Given the description of an element on the screen output the (x, y) to click on. 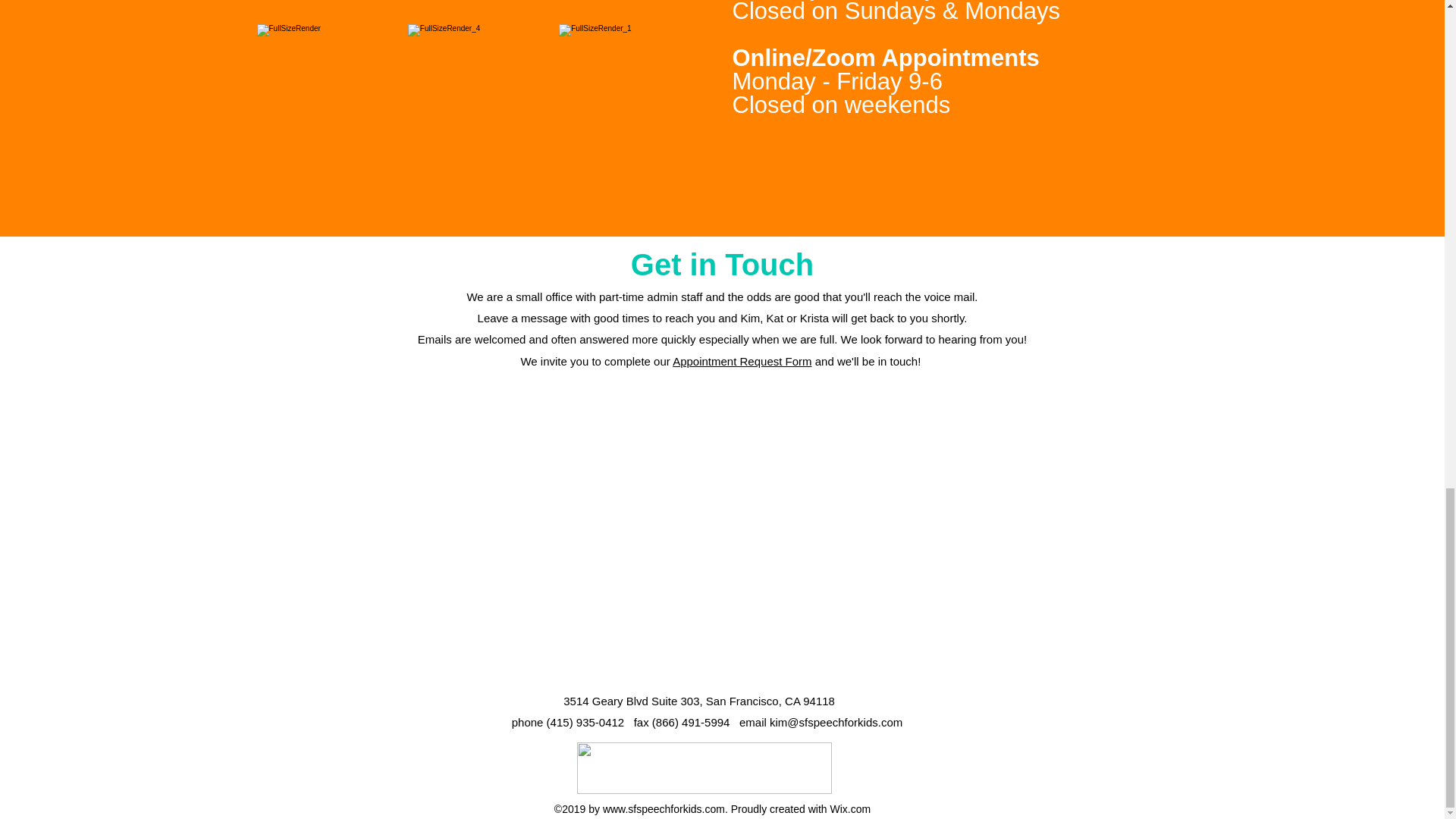
ASHA-CCC-SLP-Color.jpg (703, 767)
Appointment Request Form (741, 360)
www.sfspeechforkids.com (663, 808)
